Given the description of an element on the screen output the (x, y) to click on. 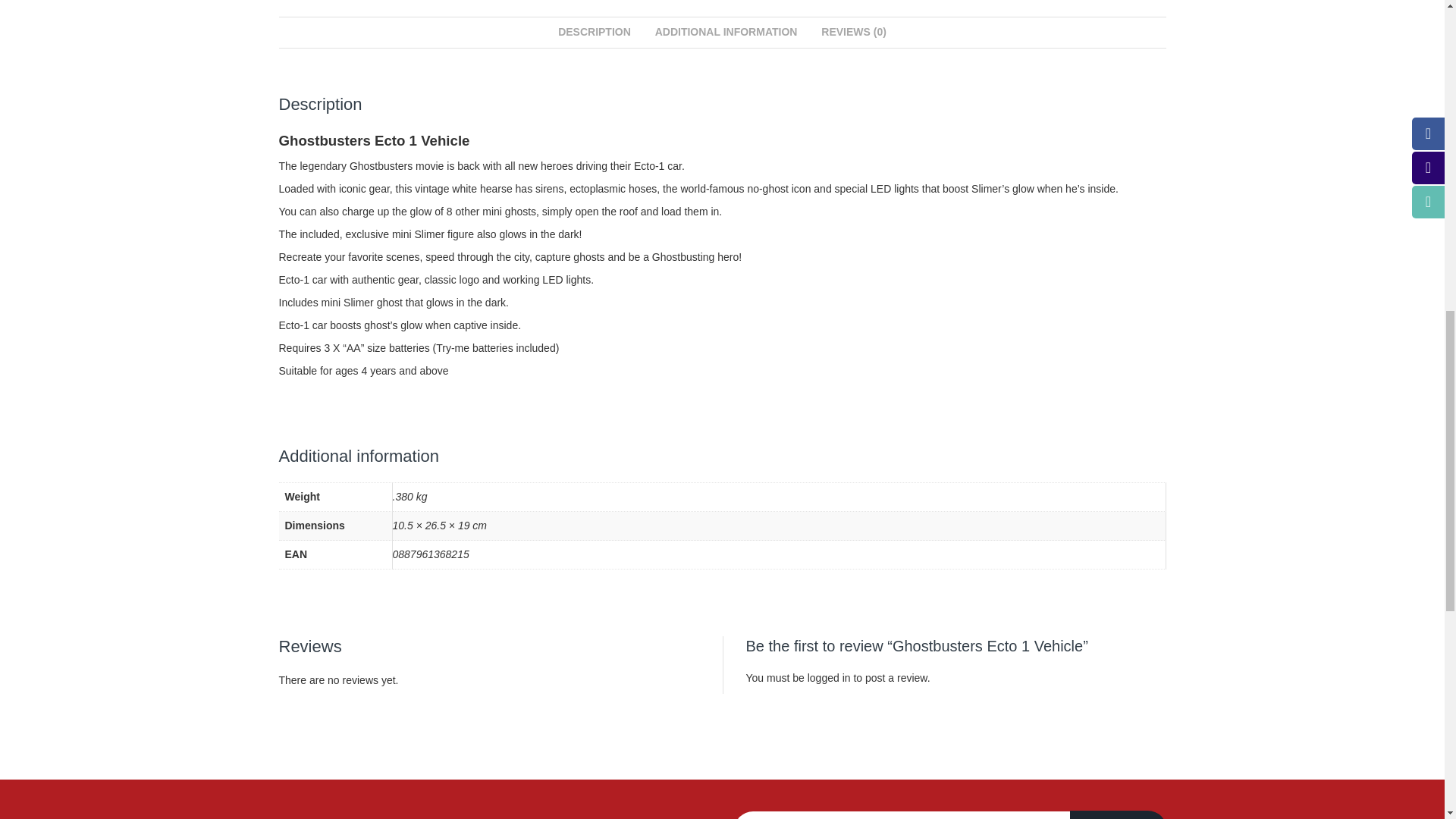
Sign up (1118, 814)
